Given the description of an element on the screen output the (x, y) to click on. 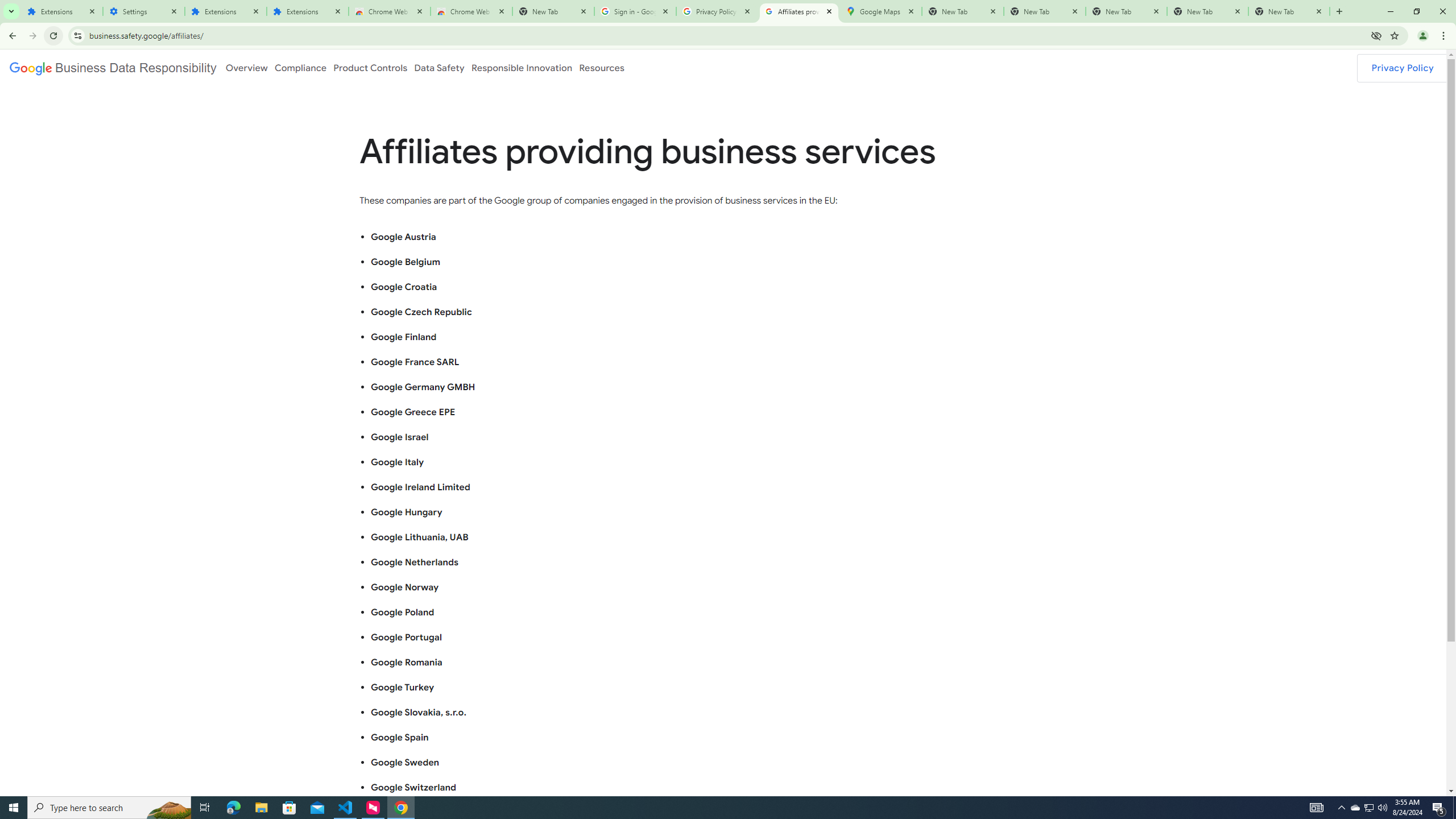
Privacy Policy (1402, 68)
Address and search bar (726, 35)
Chrome Web Store - Themes (470, 11)
New Tab (1289, 11)
Affiliates providing business services (798, 11)
Third-party cookies blocked (1376, 35)
